Given the description of an element on the screen output the (x, y) to click on. 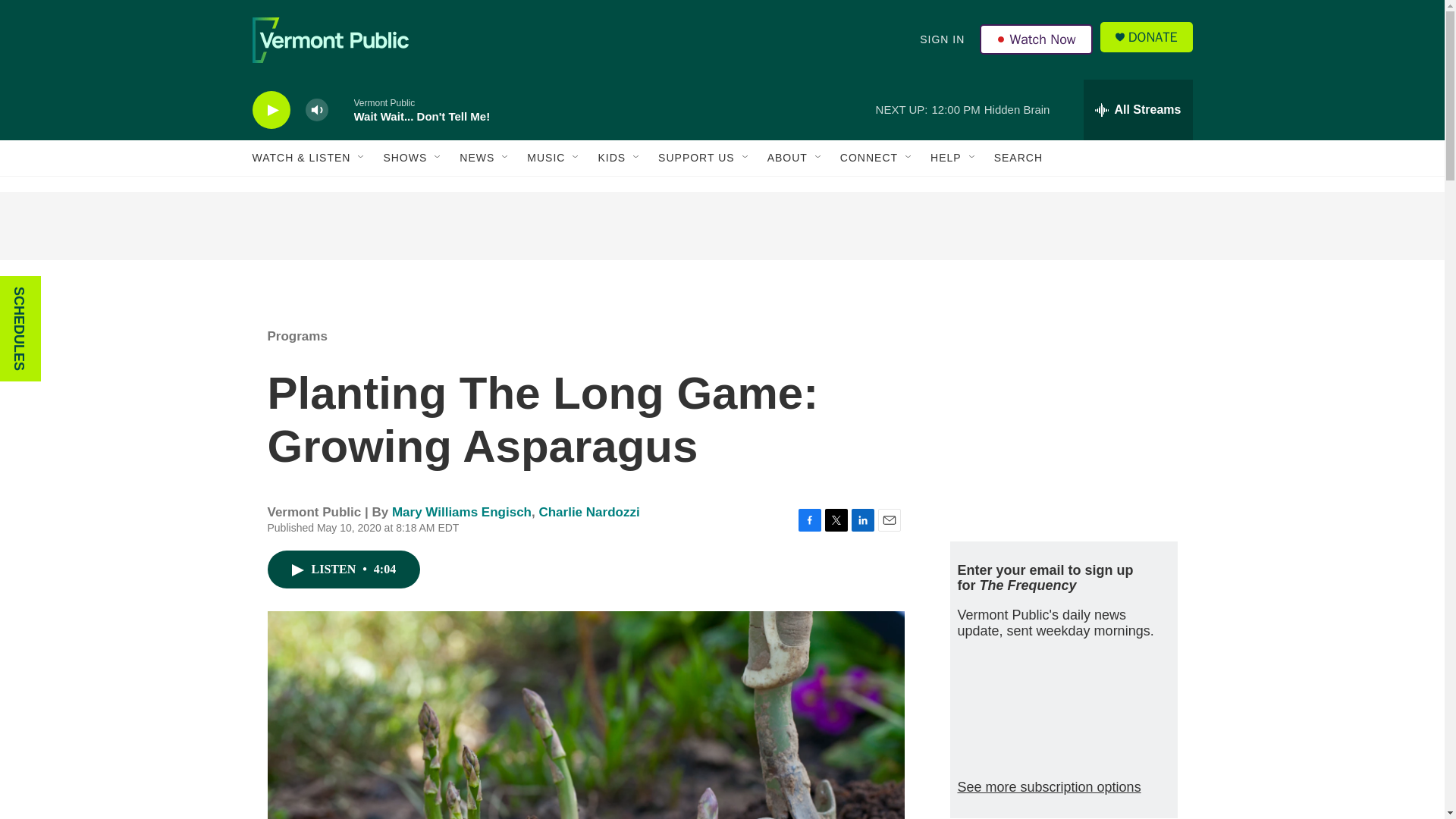
3rd party ad content (1062, 416)
3rd party ad content (721, 225)
